Given the description of an element on the screen output the (x, y) to click on. 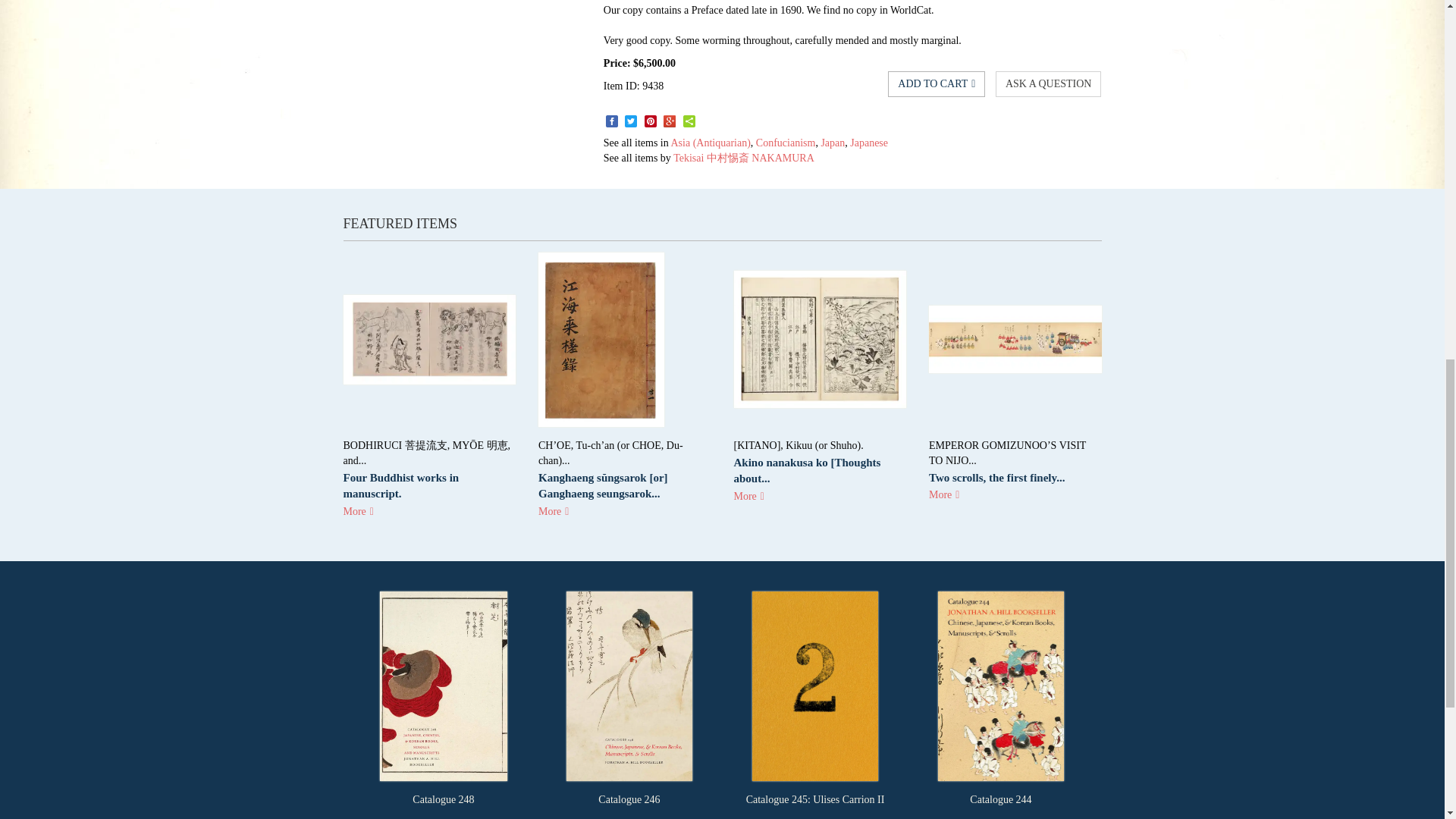
Japanese (869, 142)
Four Buddhist works in manuscript. (400, 485)
ASK A QUESTION (1048, 84)
Confucianism (785, 142)
ADD TO CART (936, 84)
Japan (832, 142)
